Given the description of an element on the screen output the (x, y) to click on. 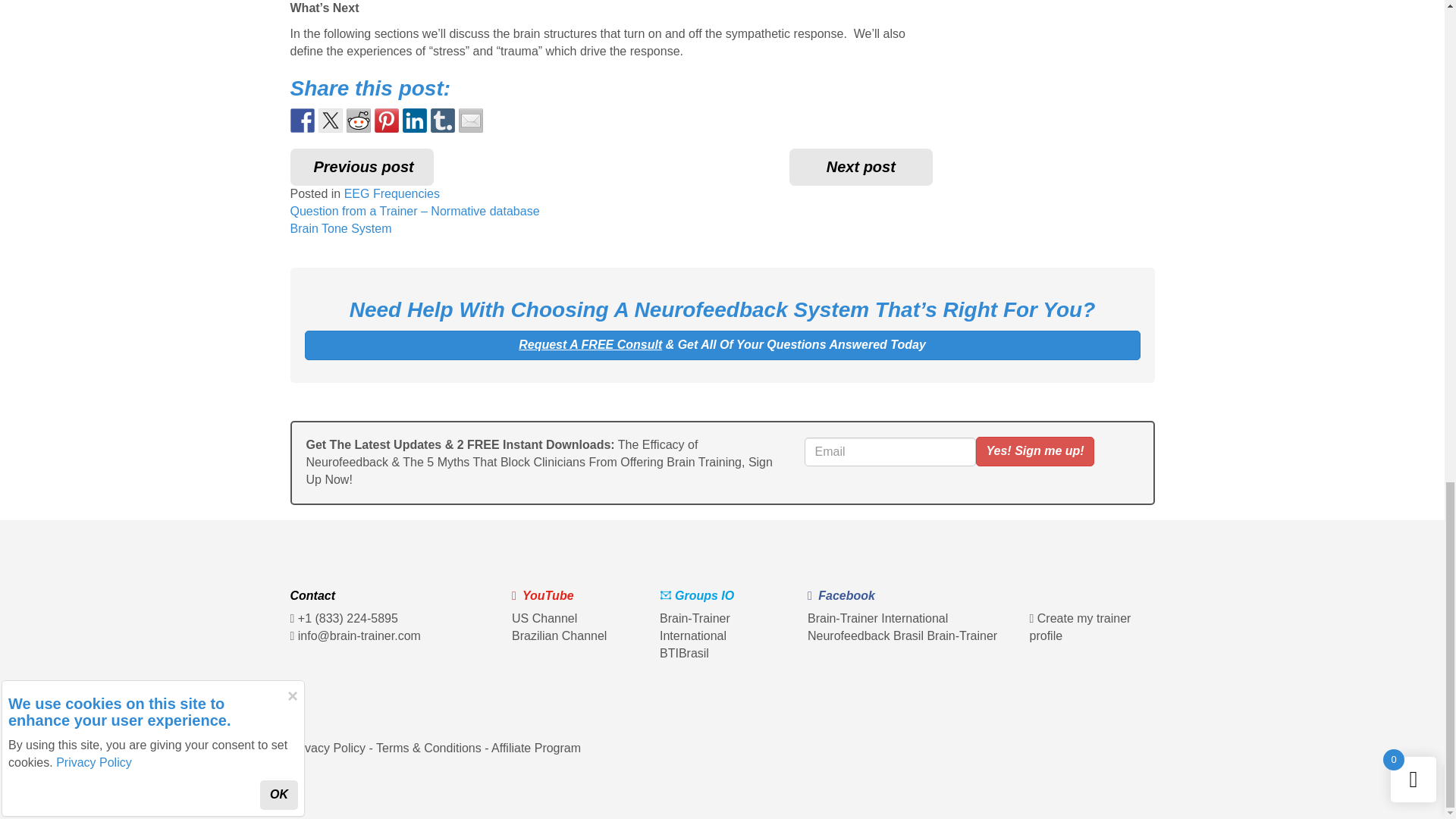
Yes! Sign me up! (1034, 451)
